Given the description of an element on the screen output the (x, y) to click on. 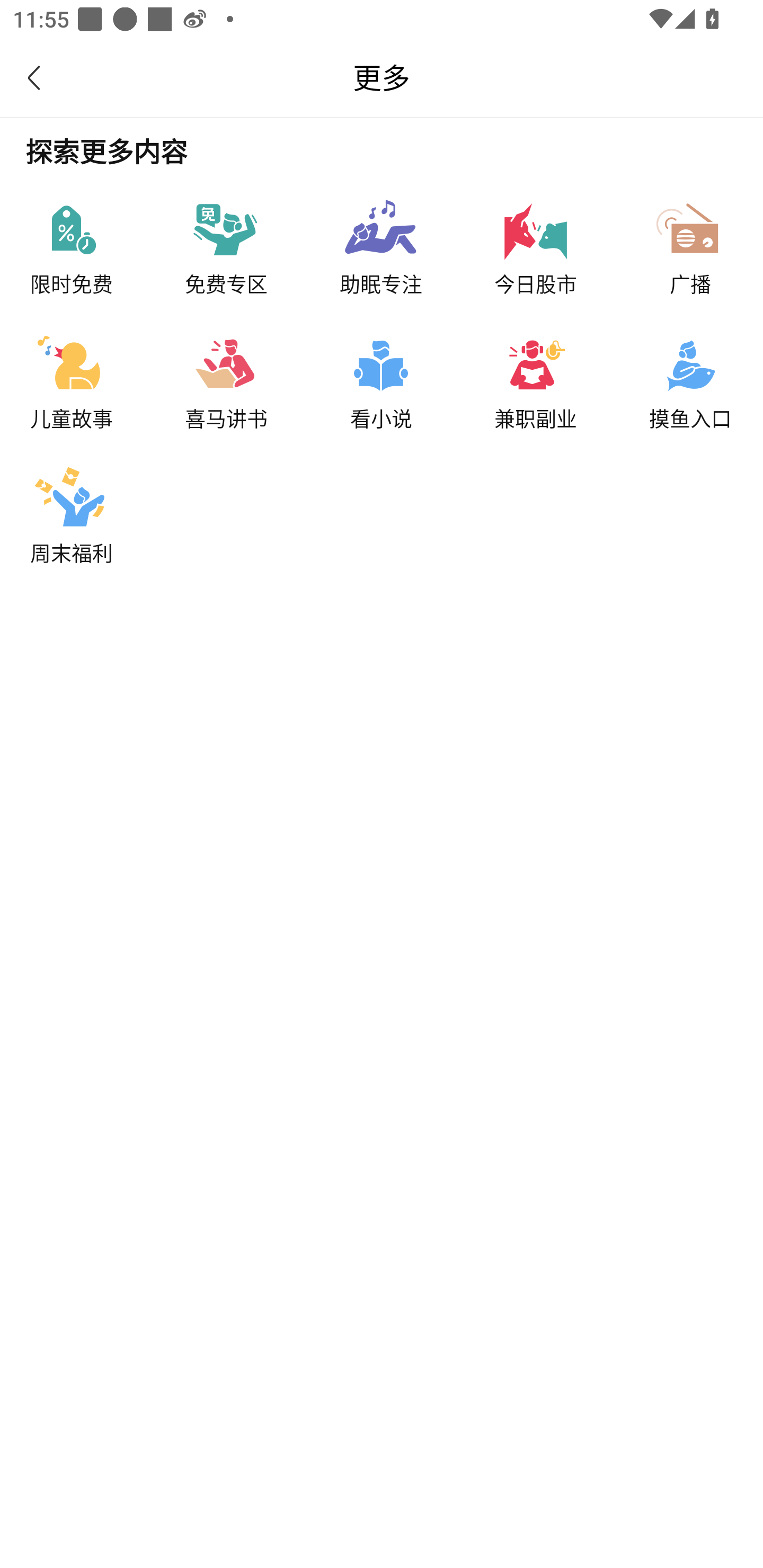
返回 (43, 77)
更多 (381, 77)
限时免费 (90, 239)
免费专区 (257, 239)
助眠专注 (411, 239)
今日股市 (566, 239)
广播 (702, 239)
儿童故事 (90, 374)
喜马讲书 (257, 374)
看小说 (411, 374)
兼职副业 (566, 374)
摸鱼入口 (702, 374)
周末福利 (90, 508)
